Given the description of an element on the screen output the (x, y) to click on. 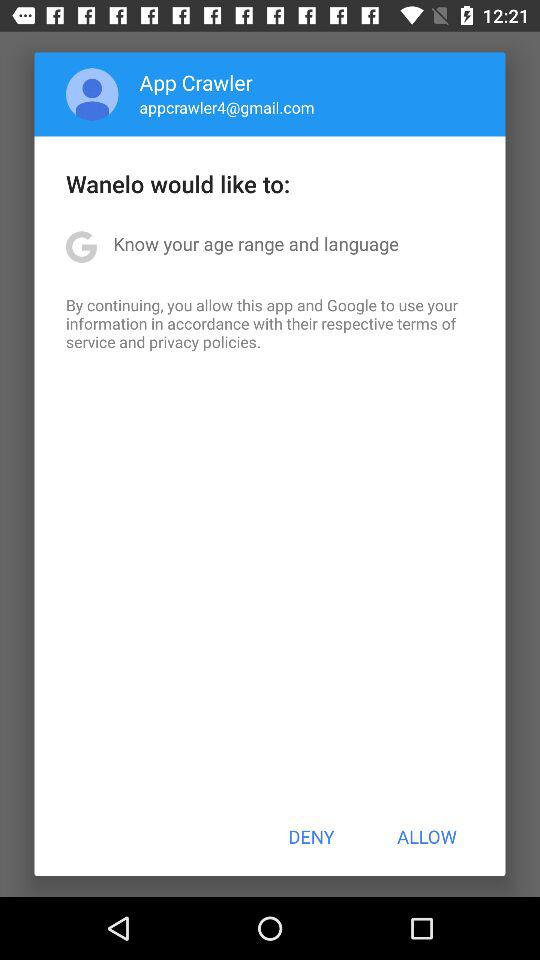
choose the item to the left of the app crawler app (92, 94)
